Given the description of an element on the screen output the (x, y) to click on. 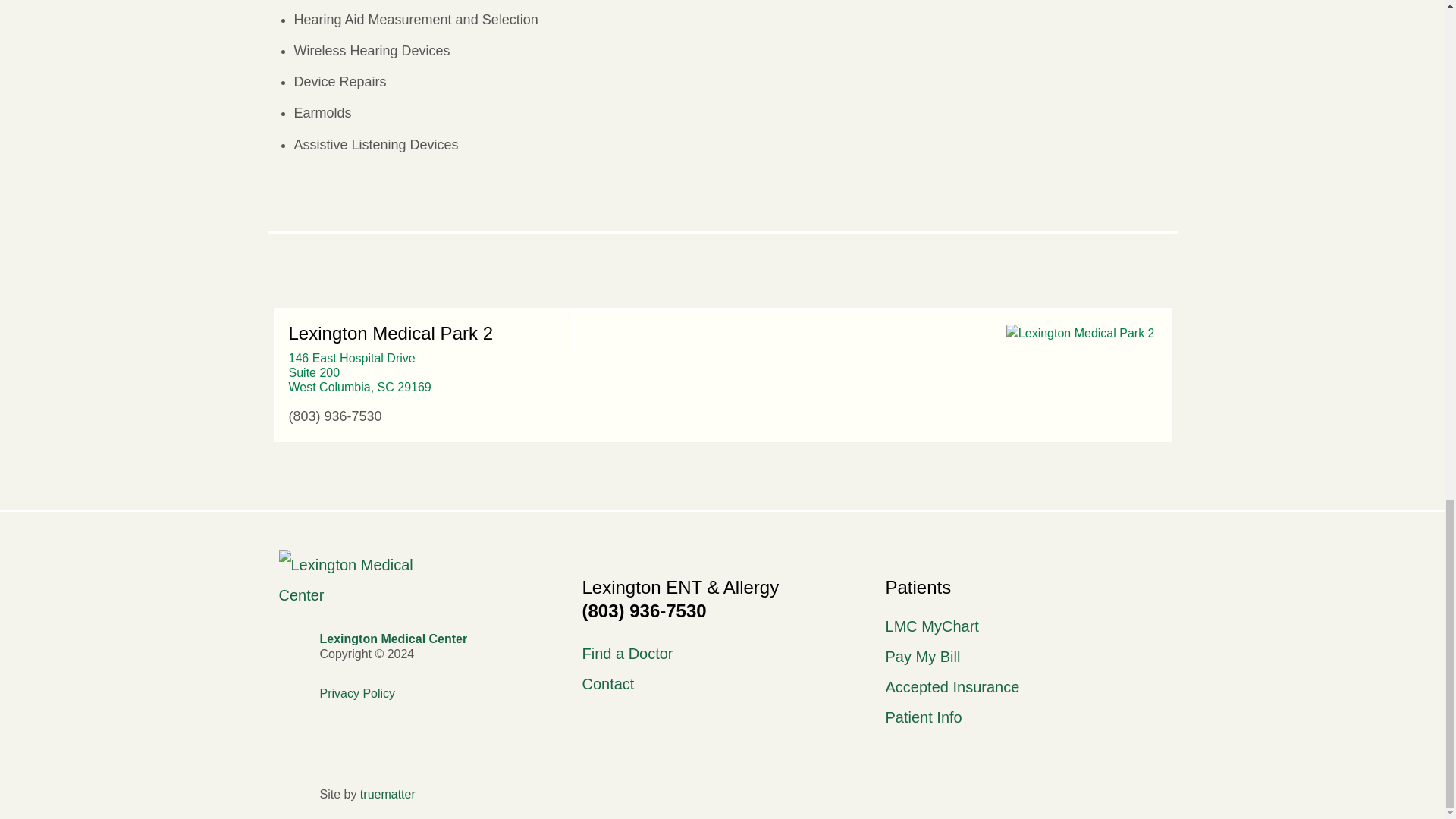
truematter (386, 793)
Lexington Medical Park 2 (1080, 333)
Patient Info (359, 372)
Accepted Insurance (1025, 716)
Lexington Medical Center (1025, 686)
LMC MyChart (439, 639)
Pay My Bill (1025, 625)
Find a Doctor (1025, 656)
Privacy Policy (720, 653)
